Given the description of an element on the screen output the (x, y) to click on. 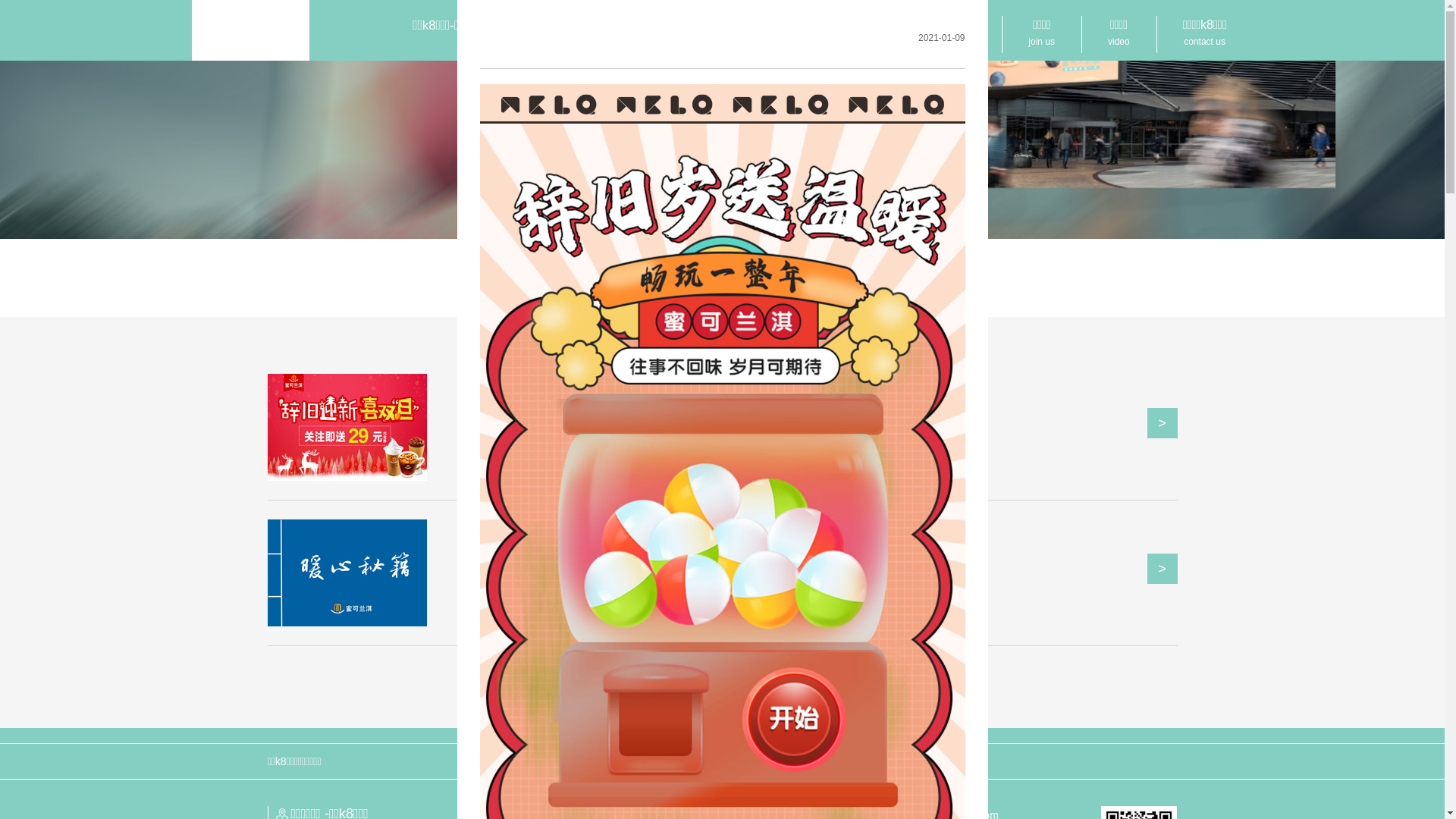
9 Element type: text (860, 679)
8 Element type: text (830, 679)
7 Element type: text (801, 679)
5 Element type: text (742, 679)
6 Element type: text (771, 679)
4 Element type: text (712, 679)
3 Element type: text (682, 679)
